Given the description of an element on the screen output the (x, y) to click on. 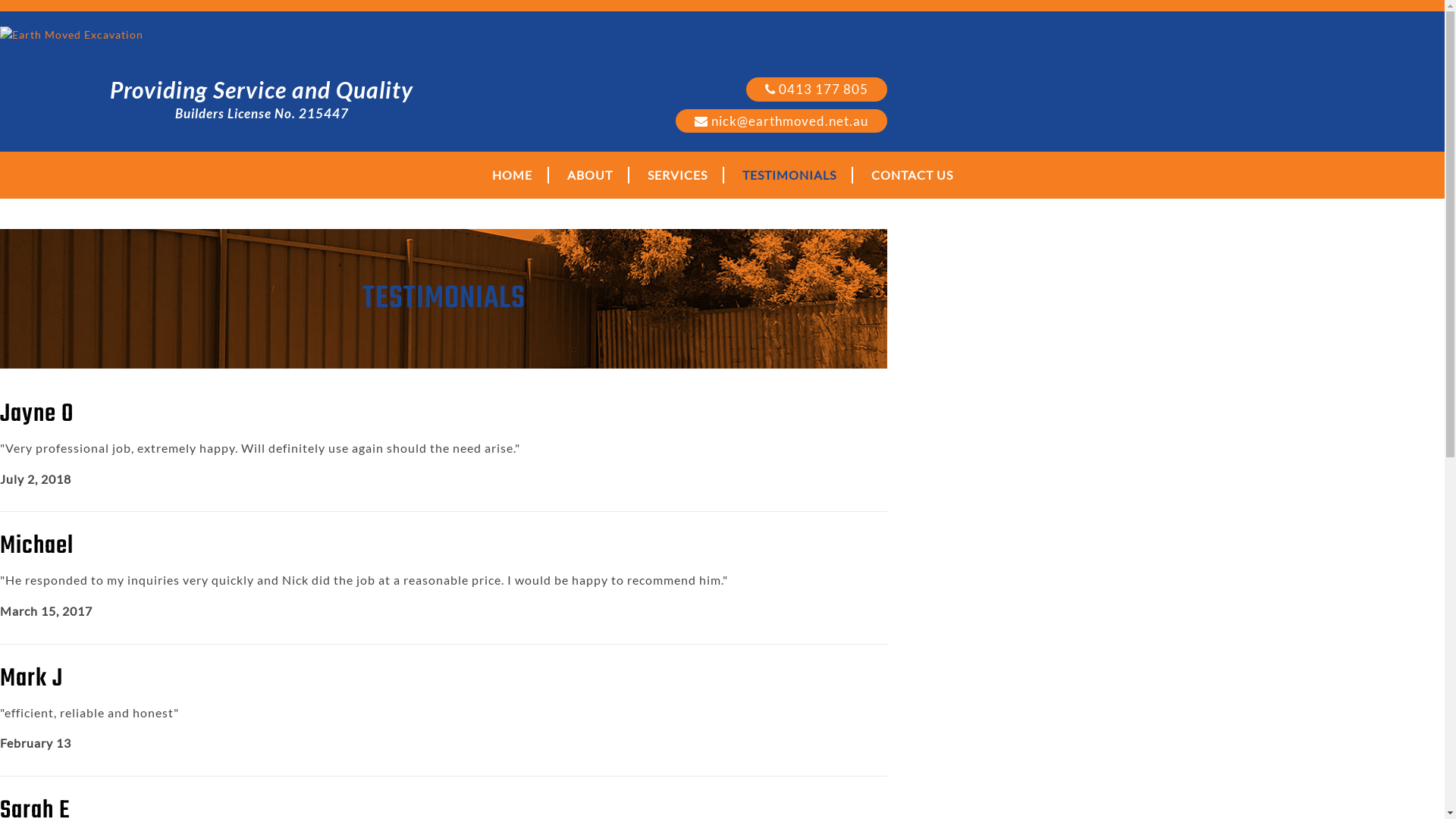
TESTIMONIALS Element type: text (789, 174)
ABOUT Element type: text (590, 174)
HOME Element type: text (512, 174)
SERVICES Element type: text (678, 174)
0413 177 805 Element type: text (816, 88)
nick@earthmoved.net.au Element type: text (781, 120)
CONTACT US Element type: text (911, 174)
